Given the description of an element on the screen output the (x, y) to click on. 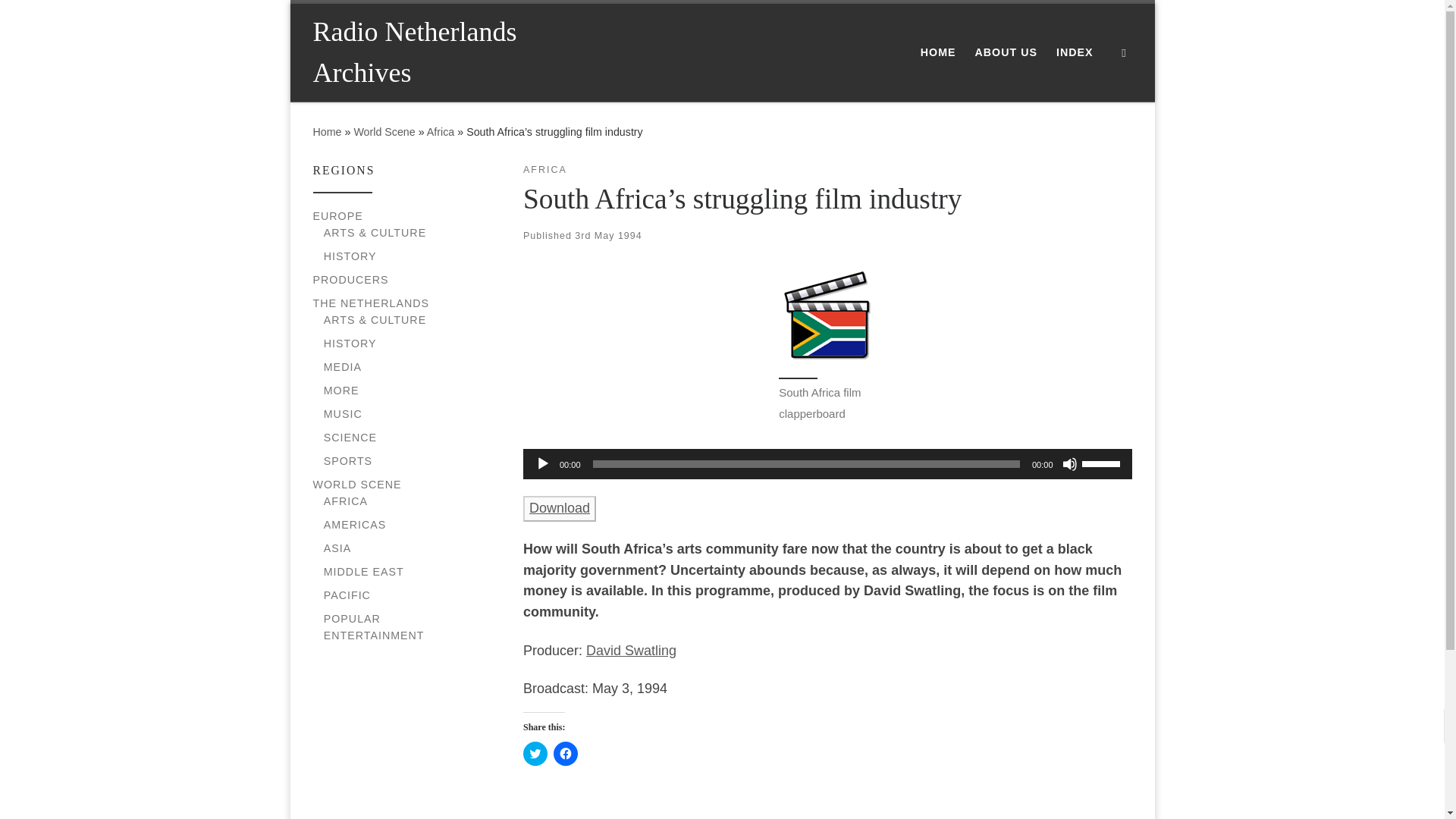
Click to share on Twitter (534, 753)
Download (558, 508)
Skip to content (60, 20)
Click to share on Facebook (565, 753)
David Swatling (631, 650)
MEDIA (342, 366)
Radio Netherlands Archives (440, 52)
Download (559, 507)
PRODUCERS (350, 279)
THE NETHERLANDS (371, 303)
